Given the description of an element on the screen output the (x, y) to click on. 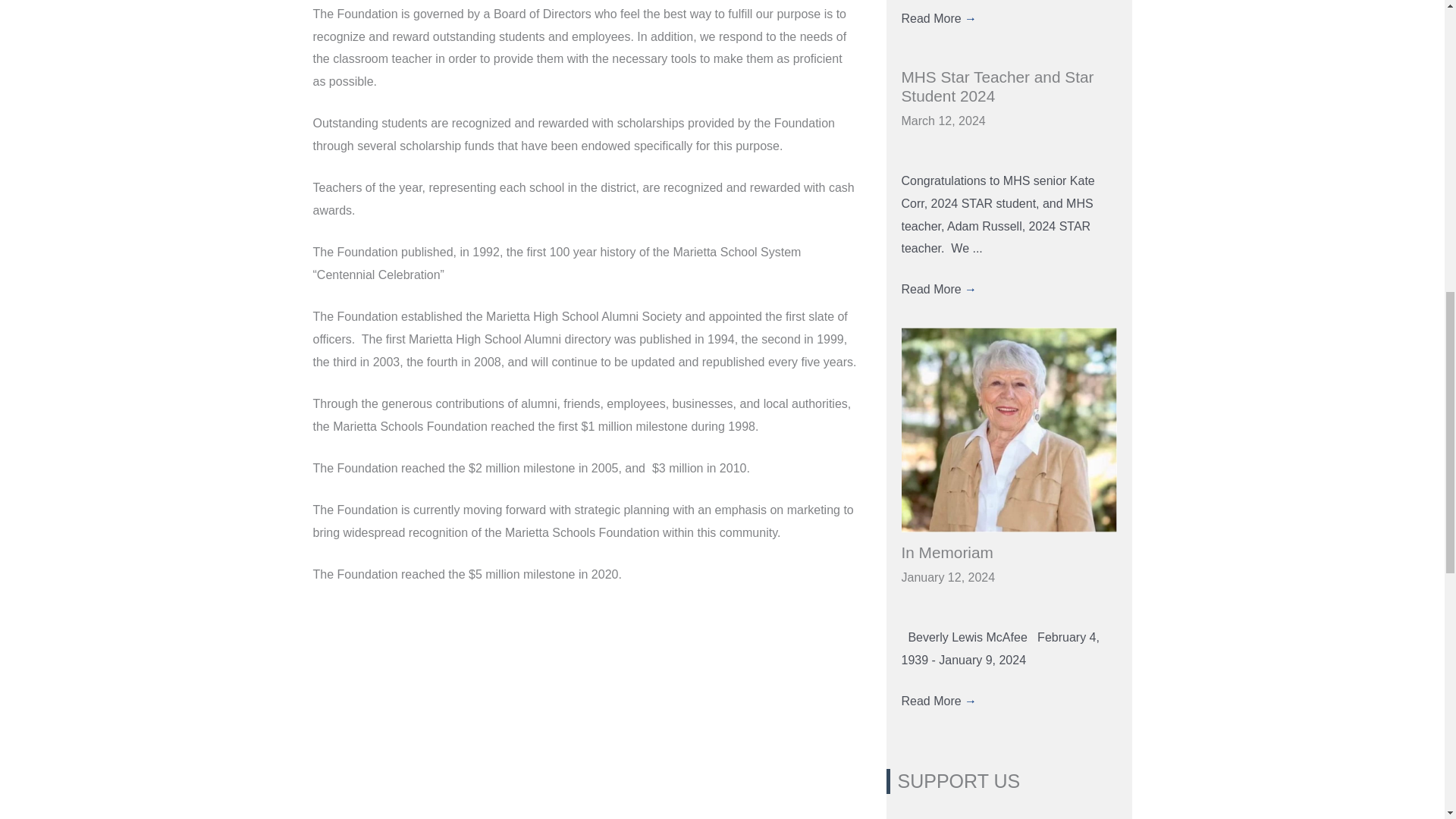
Read More (938, 18)
In Memoriam (946, 552)
Read More (938, 288)
MHS Star Teacher and Star Student 2024 (997, 85)
In Memoriam (1008, 428)
Read More (938, 700)
